Given the description of an element on the screen output the (x, y) to click on. 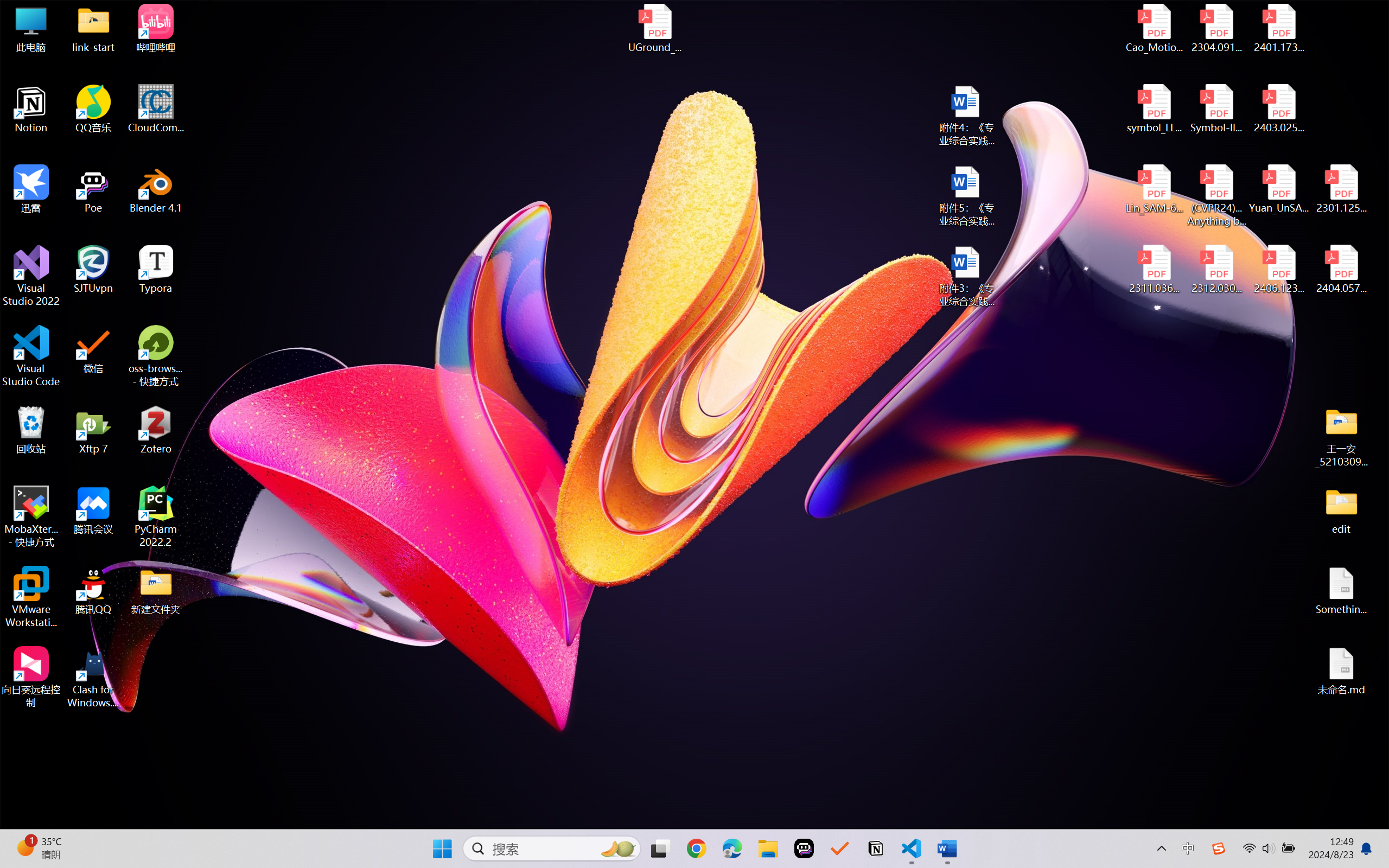
Third-party cookies blocked (1313, 37)
Google Workspace Admin Community (40, 12)
FAQ (312, 99)
July 1, 2023 (521, 576)
Privacy Checkup (445, 12)
July 1, 2021 (521, 788)
Privacy Policy (82, 130)
Terms of Service (176, 99)
